Given the description of an element on the screen output the (x, y) to click on. 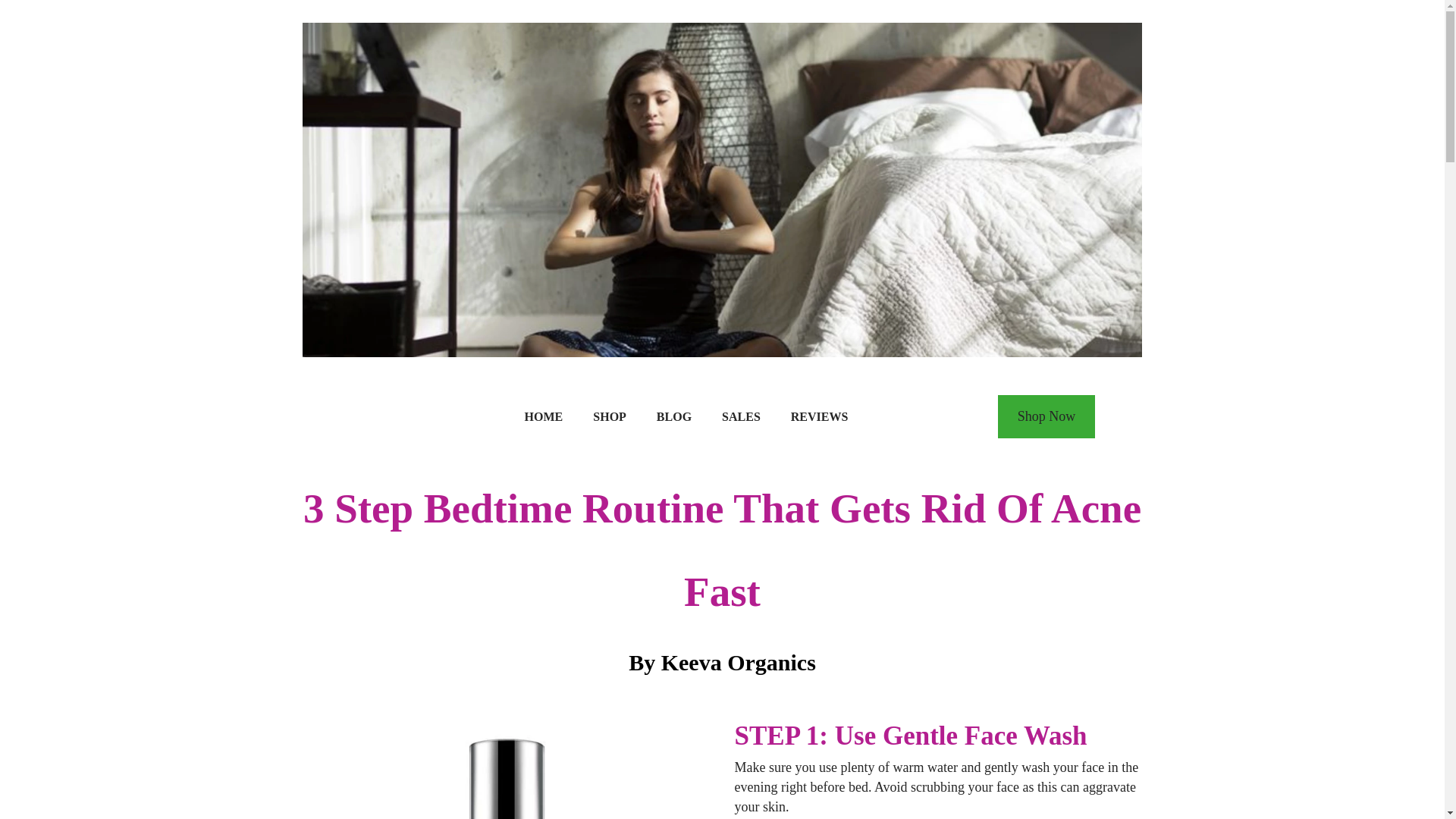
BLOG (674, 416)
SHOP (610, 416)
SALES (741, 416)
REVIEWS (819, 416)
REVIEWS (819, 416)
Shop Now (1046, 416)
HOME (543, 416)
BLOG (674, 416)
SHOP (610, 416)
HOME (543, 416)
 SALES (741, 416)
